Given the description of an element on the screen output the (x, y) to click on. 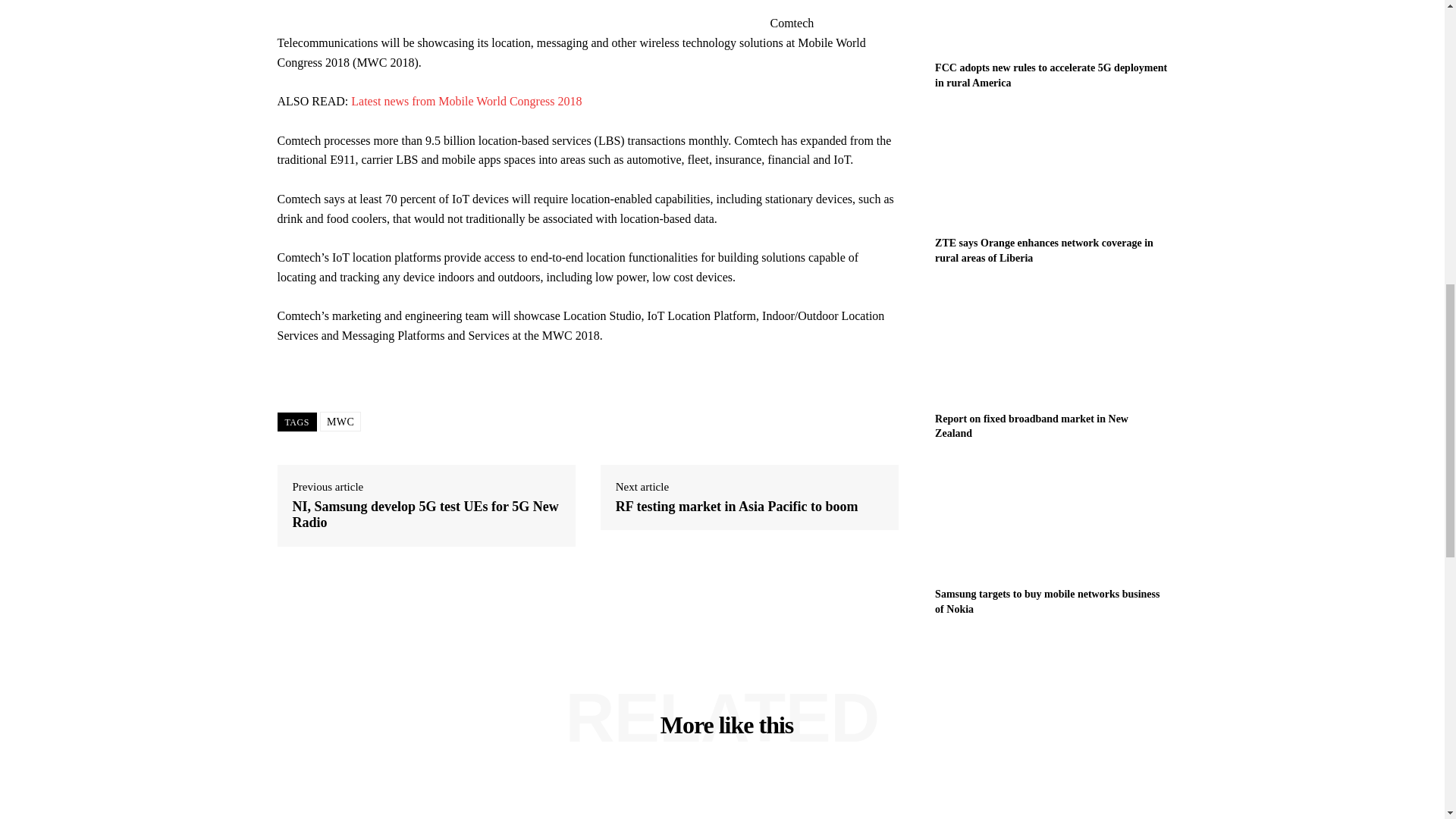
Latest news from Mobile World Congress 2018 (465, 101)
MWC (340, 421)
RF testing market in Asia Pacific to boom (737, 506)
Report on fixed broadband market in New Zealand (1031, 426)
Report on fixed broadband market in New Zealand (1031, 426)
